Given the description of an element on the screen output the (x, y) to click on. 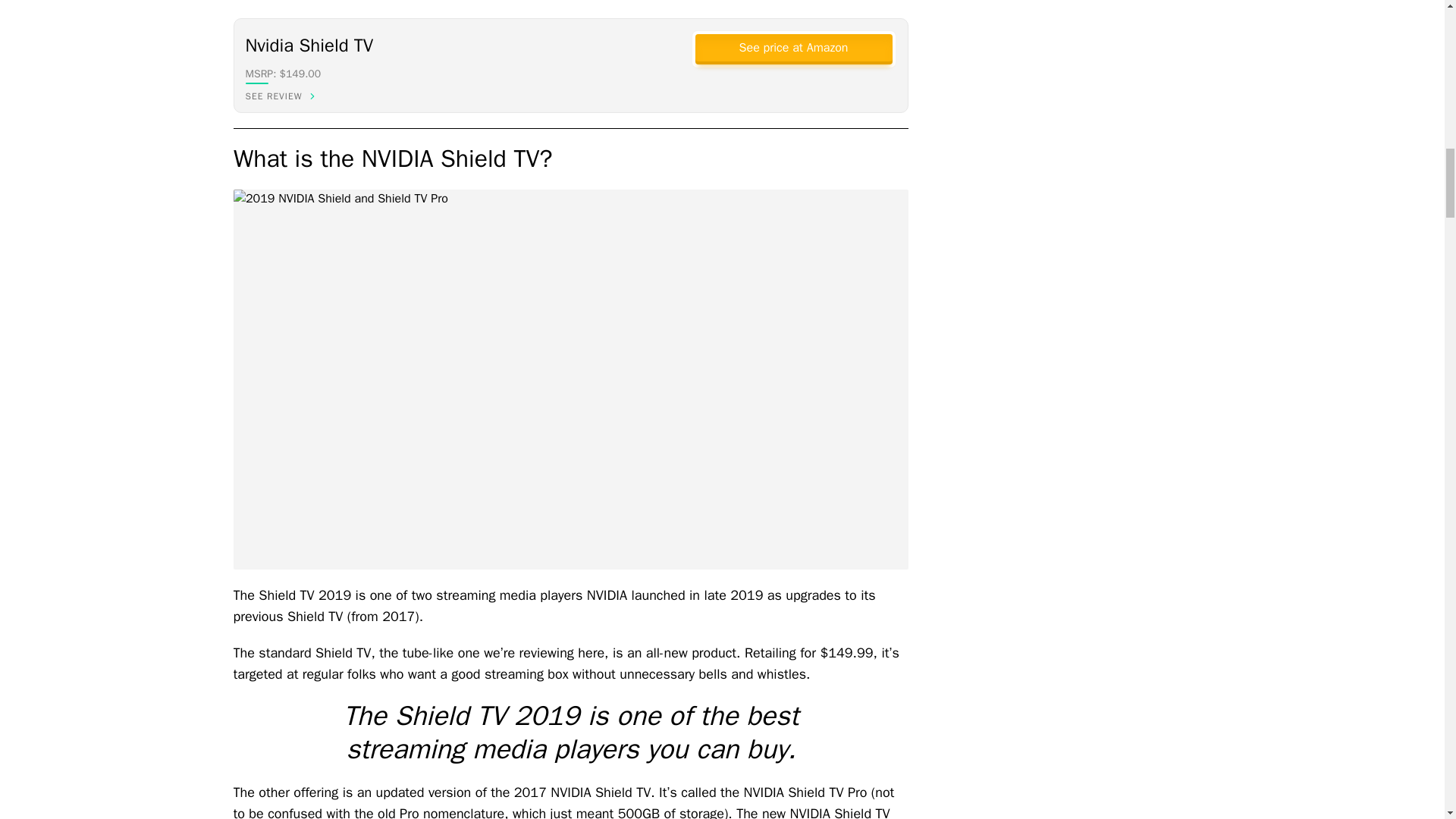
See price at Amazon (792, 47)
SEE REVIEW (286, 95)
